Given the description of an element on the screen output the (x, y) to click on. 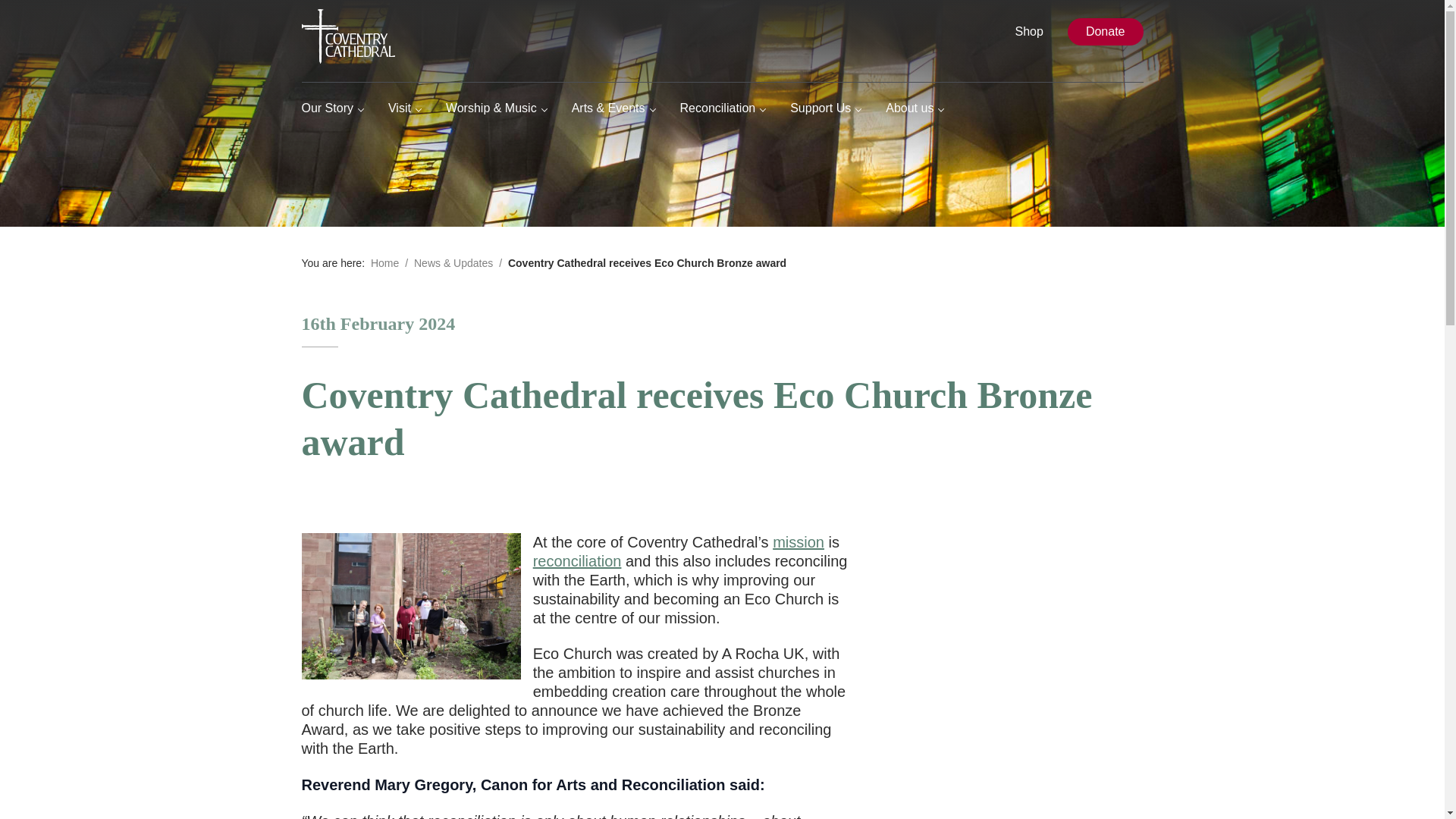
Shop (1028, 31)
Donate (1104, 31)
Our Story (332, 108)
